Given the description of an element on the screen output the (x, y) to click on. 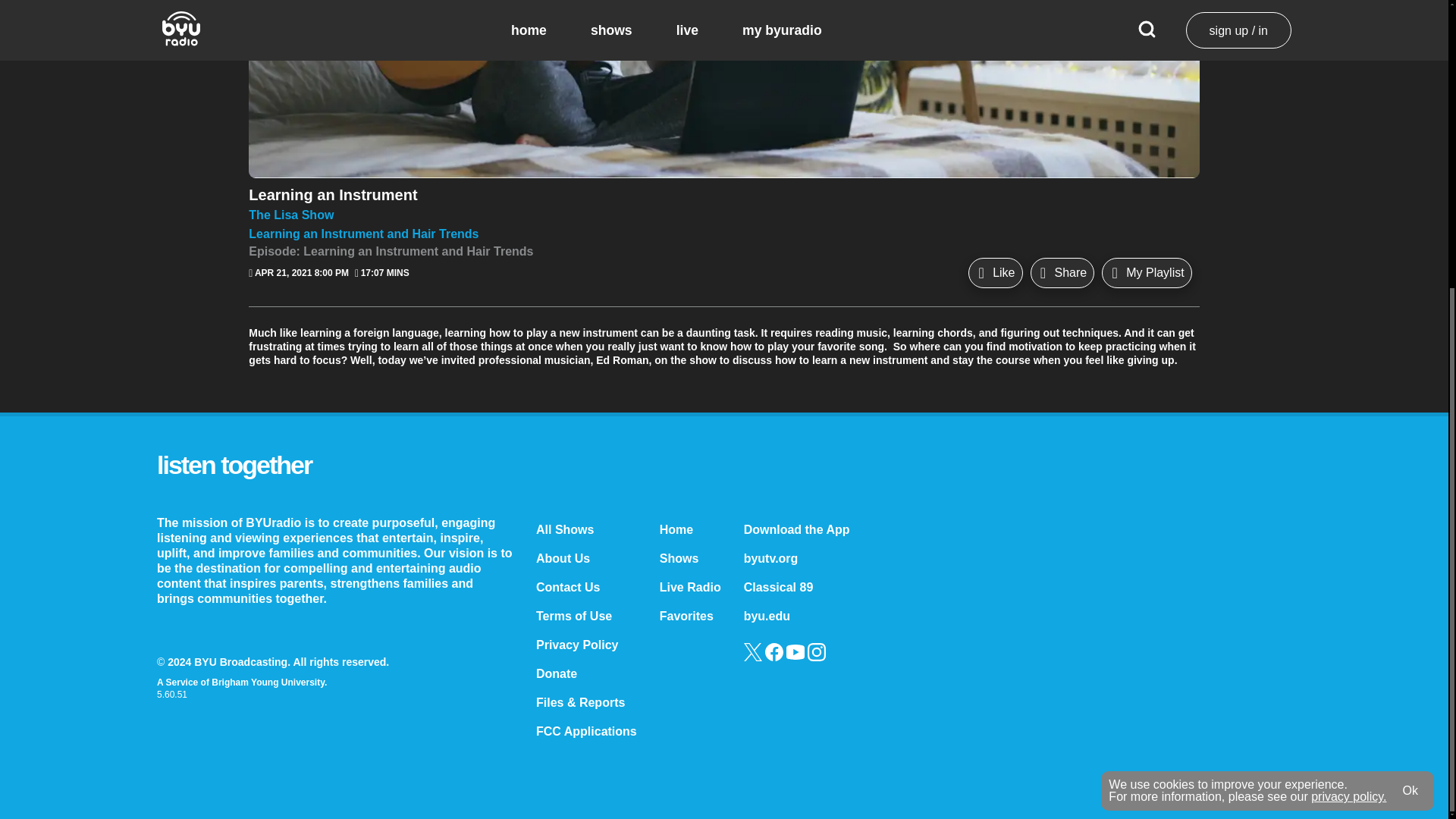
All Shows (564, 529)
Classical 89 (778, 586)
Contact Us (567, 586)
byu.edu (767, 615)
Live Radio (689, 586)
Share (1061, 272)
Shows (678, 558)
Privacy Policy (576, 644)
Learning an Instrument and Hair Trends (723, 233)
Donate (555, 673)
byutv.org (770, 558)
Terms of Use (573, 615)
Like (995, 272)
My Playlist (1146, 272)
About Us (562, 558)
